Given the description of an element on the screen output the (x, y) to click on. 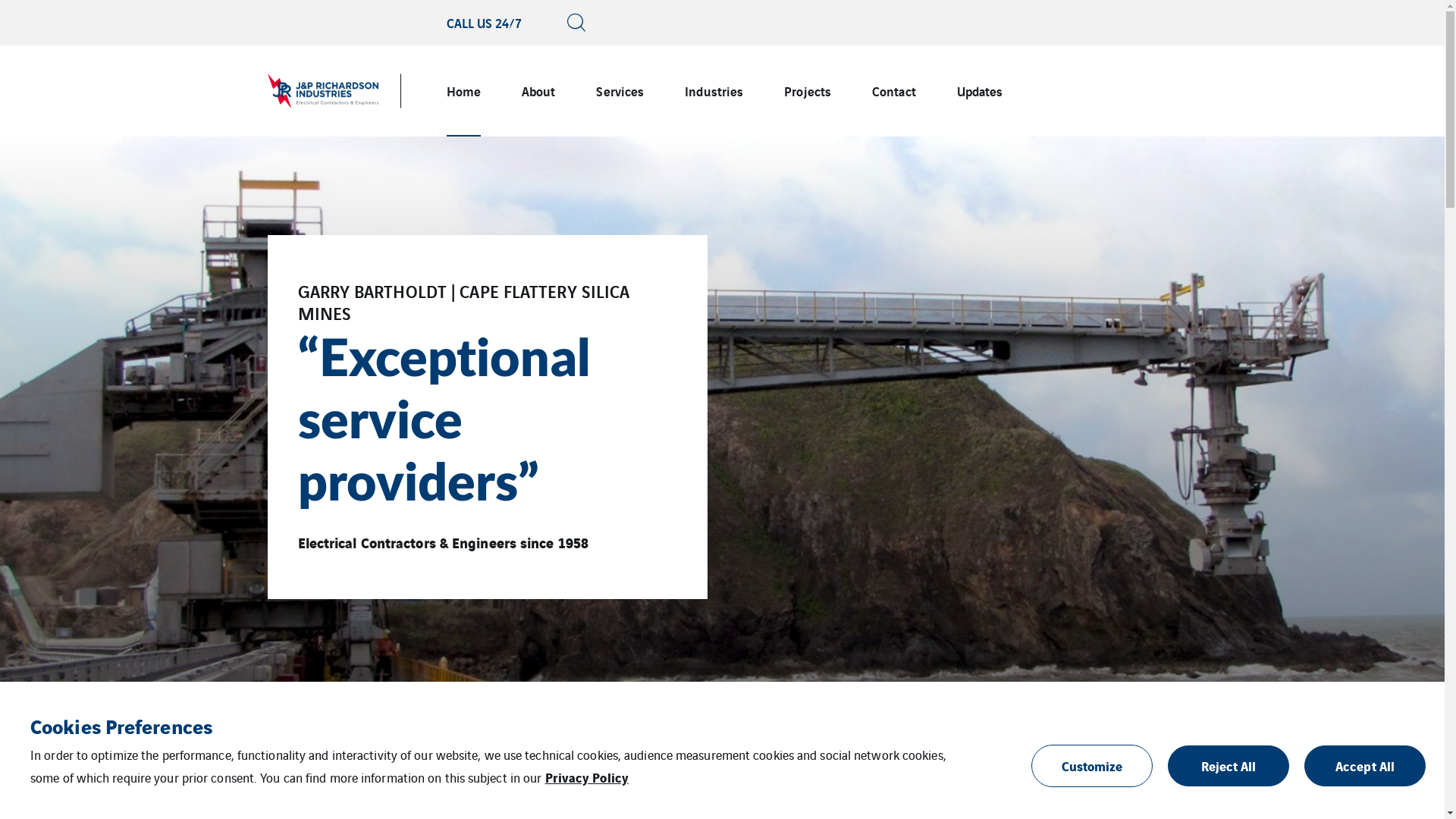
Privacy Policy Element type: text (585, 776)
Projects Element type: text (807, 90)
2 Element type: text (721, 704)
3 Element type: text (745, 704)
CALL US 24/7 Element type: text (482, 22)
1 Element type: text (697, 704)
Updates Element type: text (980, 90)
Accept All Element type: text (1364, 765)
Search Element type: text (1074, 144)
Reject All Element type: text (1228, 765)
About Element type: text (538, 90)
Industries Element type: text (713, 90)
Services Element type: text (619, 90)
Customize Element type: text (1091, 765)
Contact Element type: text (894, 90)
Home Element type: text (462, 90)
